Given the description of an element on the screen output the (x, y) to click on. 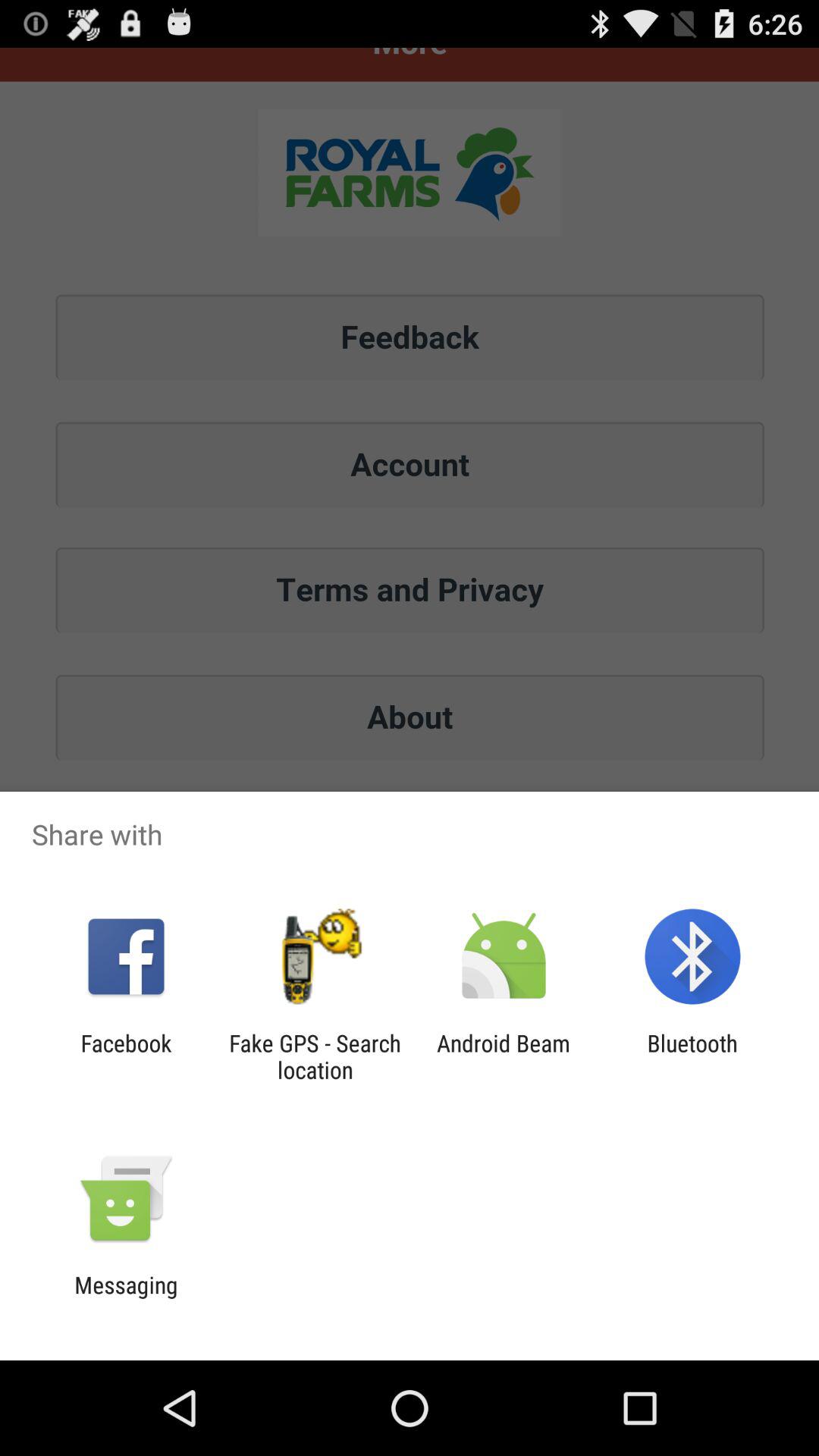
press icon to the right of facebook (314, 1056)
